Given the description of an element on the screen output the (x, y) to click on. 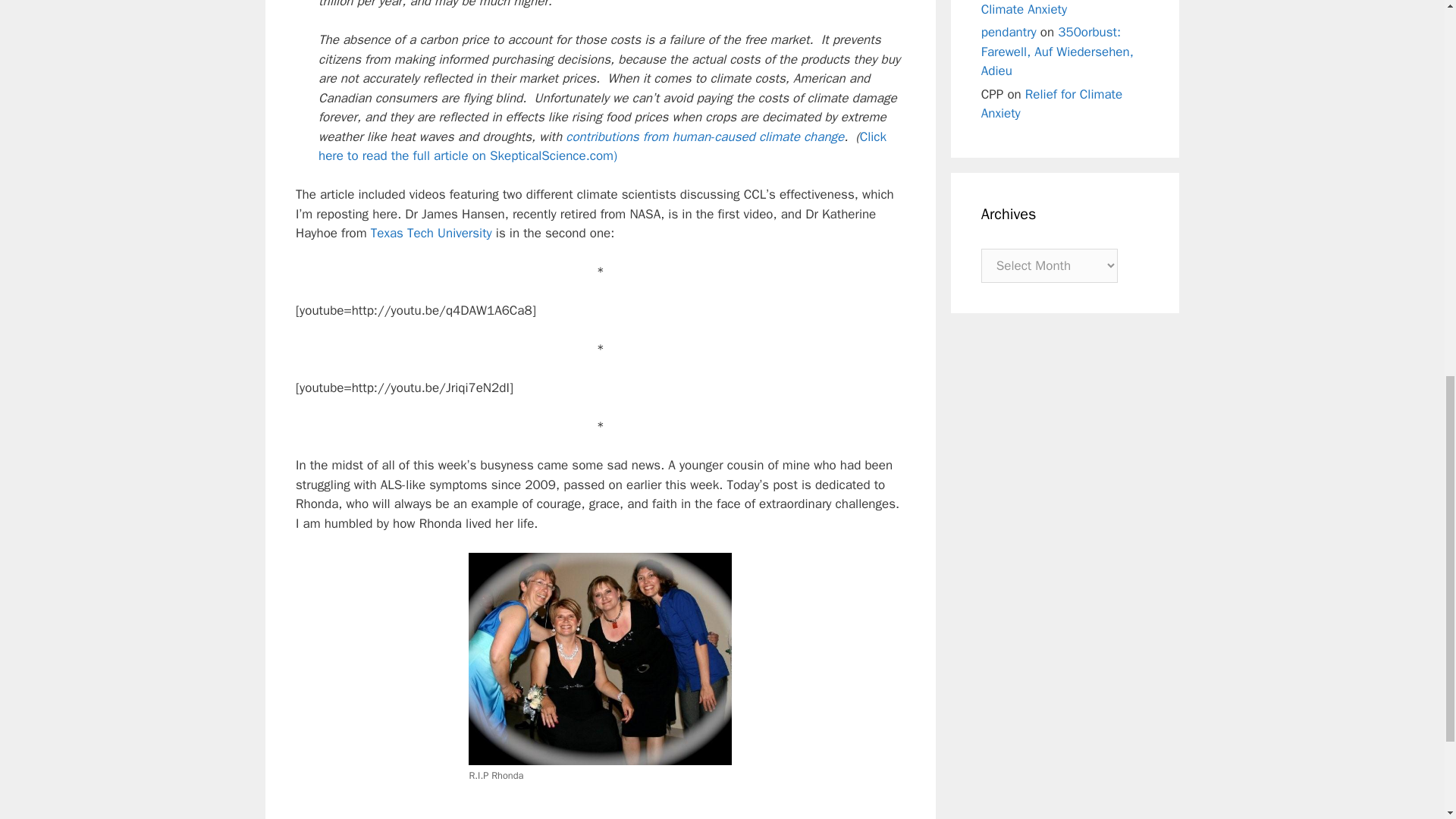
Relief for Climate Anxiety (1044, 8)
contributions from human-caused climate change (705, 136)
pendantry (1008, 32)
Texas Tech University (431, 232)
350orbust: Farewell, Auf Wiedersehen, Adieu (1057, 51)
